Given the description of an element on the screen output the (x, y) to click on. 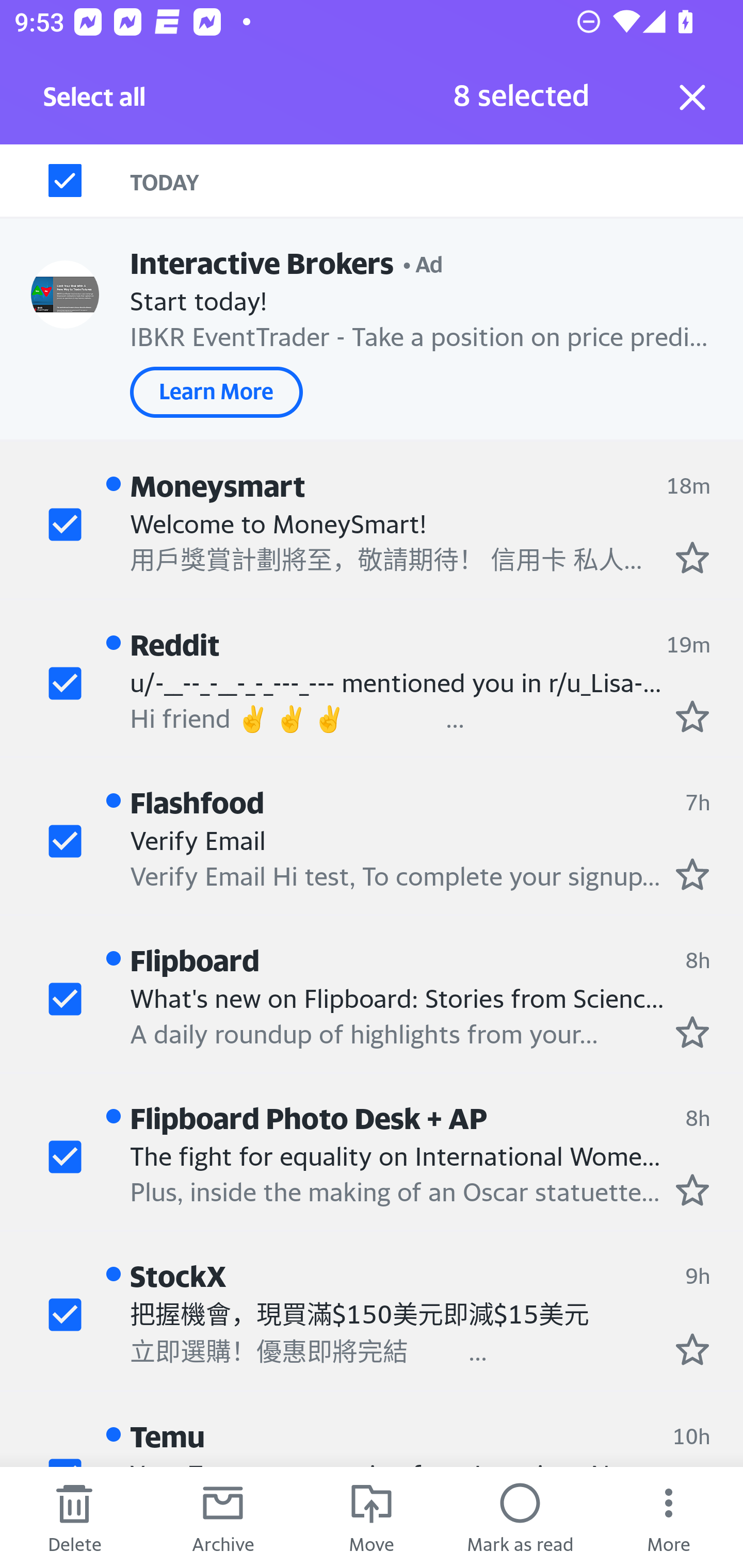
Exit selection mode (692, 97)
Select all (94, 101)
TODAY (436, 180)
• Ad (422, 262)
Mark as starred. (692, 557)
Mark as starred. (692, 715)
Mark as starred. (692, 874)
Mark as starred. (692, 1032)
Mark as starred. (692, 1189)
Mark as starred. (692, 1349)
Delete (74, 1517)
Archive (222, 1517)
Move (371, 1517)
Mark as read (519, 1517)
More (668, 1517)
